Given the description of an element on the screen output the (x, y) to click on. 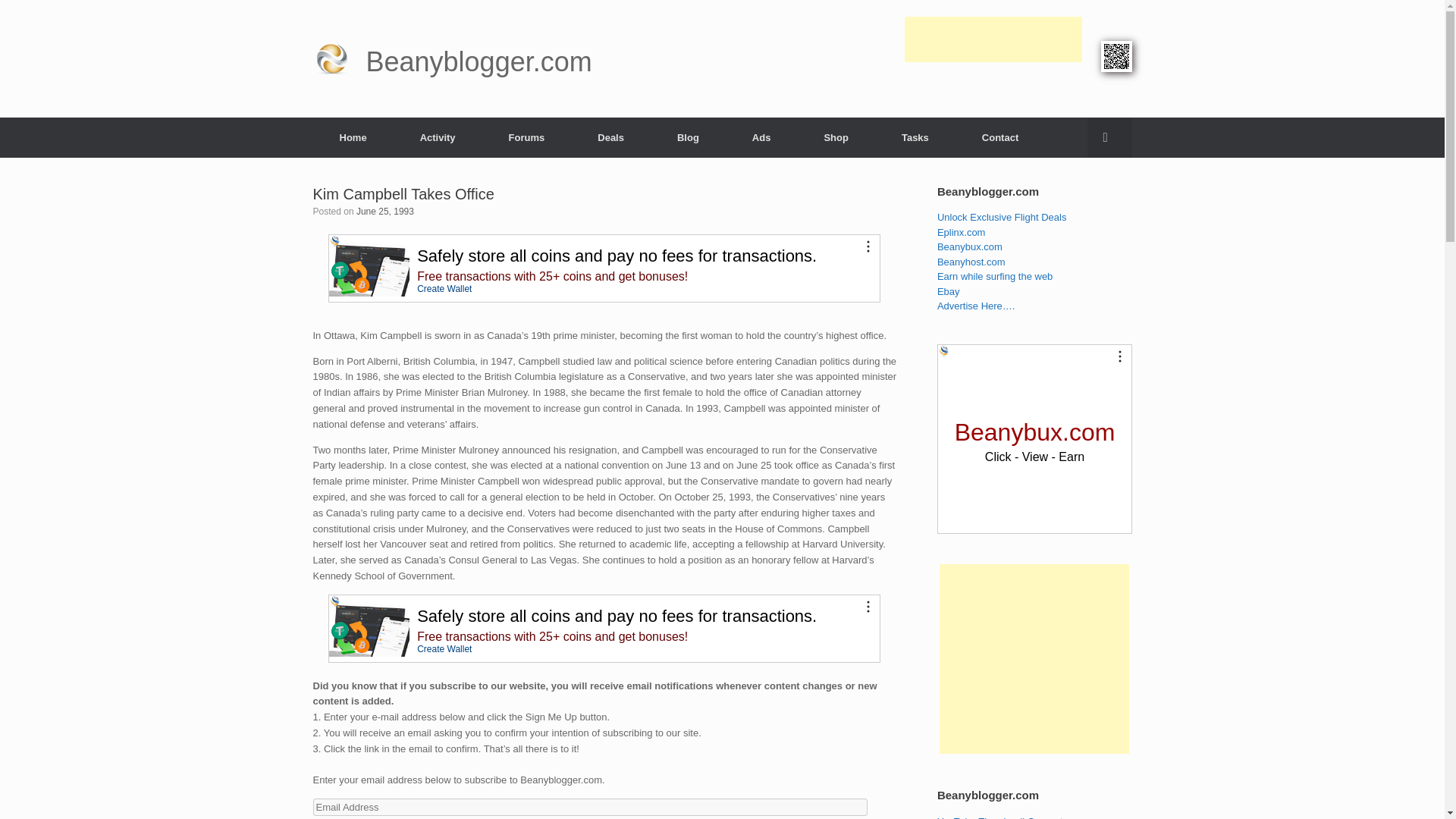
Contact (1000, 137)
Ads (761, 137)
Beanyblogger.com (452, 58)
Home (353, 137)
June 25, 1993 (384, 211)
Deals (610, 137)
Activity (437, 137)
Advertisement (992, 103)
1:27 AM (384, 211)
Tasks (915, 137)
